Given the description of an element on the screen output the (x, y) to click on. 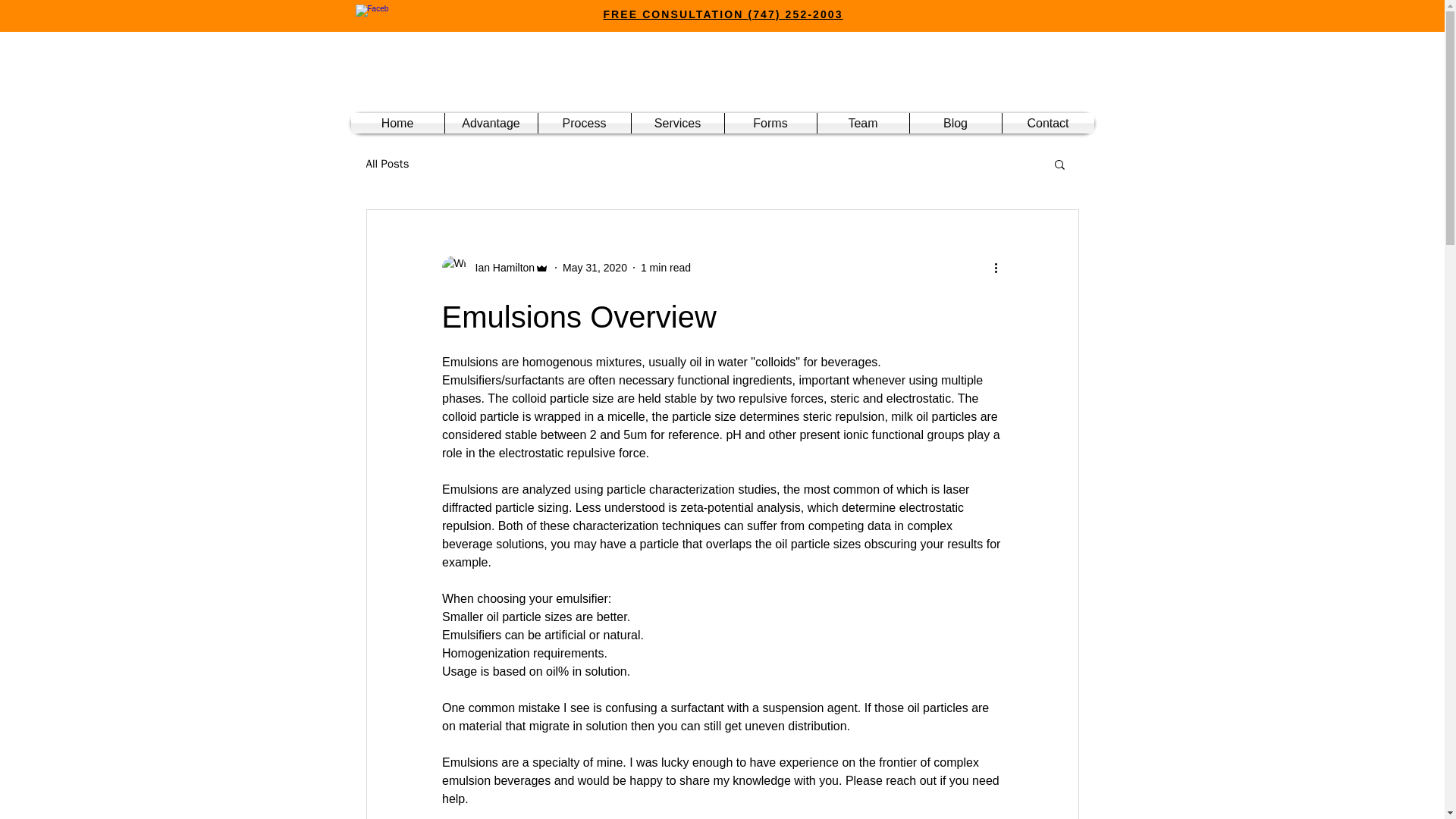
Ian Hamilton (494, 267)
Team (862, 123)
Contact (1048, 123)
Home (397, 123)
May 31, 2020 (594, 266)
1 min read (665, 266)
Ian Hamilton (499, 267)
Blog (955, 123)
Process (584, 123)
Advantage (490, 123)
All Posts (387, 163)
